Given the description of an element on the screen output the (x, y) to click on. 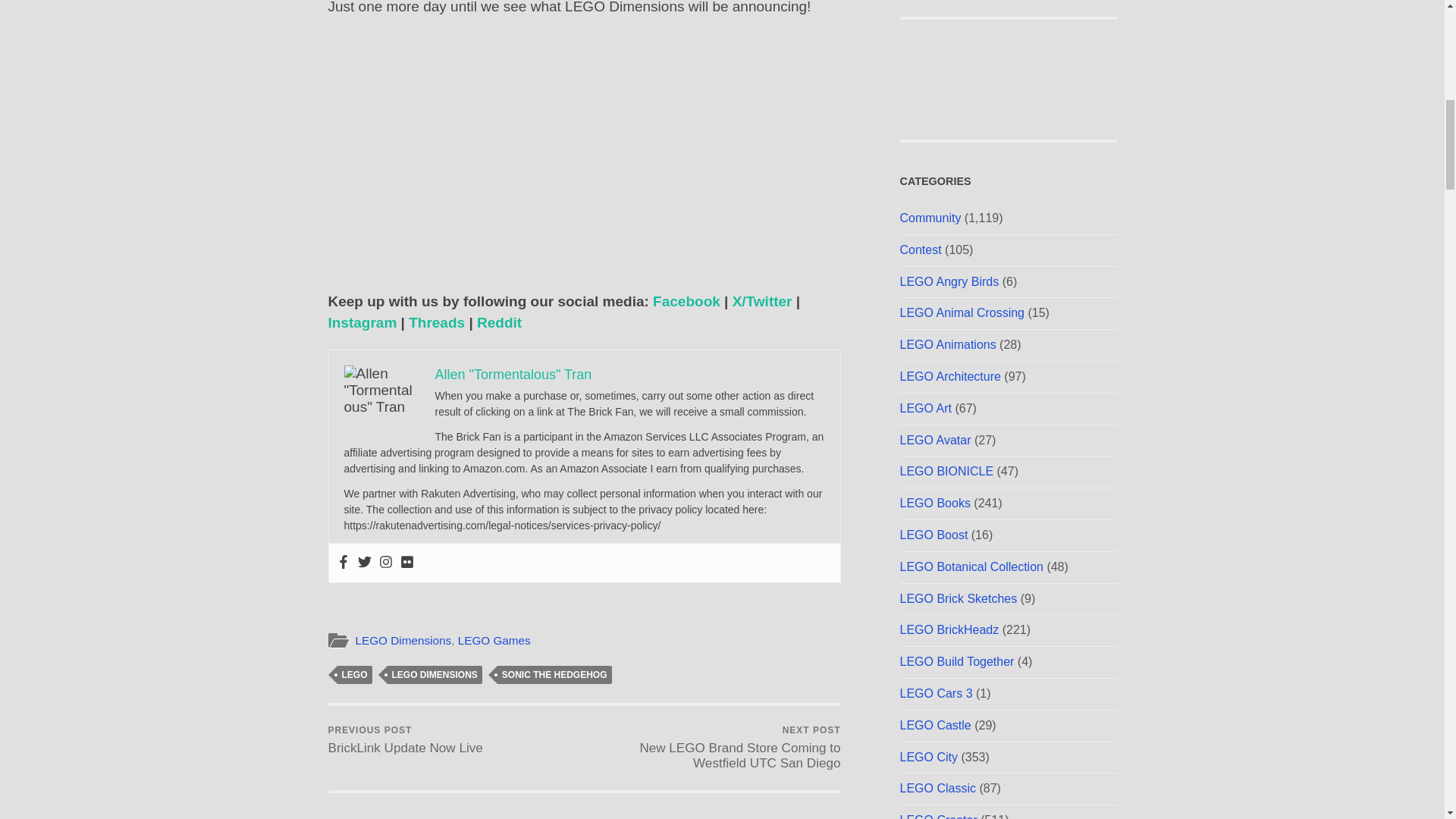
Instagram (361, 322)
LEGO (353, 674)
Twitter (364, 562)
Allen "Tormentalous" Tran (513, 374)
LEGO Games (494, 640)
LEGO DIMENSIONS (434, 674)
Threads (436, 322)
Reddit (499, 322)
Facebook (686, 301)
LEGO Dimensions (403, 640)
Instagram (385, 562)
Flickr (406, 562)
Facebook (343, 562)
SONIC THE HEDGEHOG (554, 674)
